Given the description of an element on the screen output the (x, y) to click on. 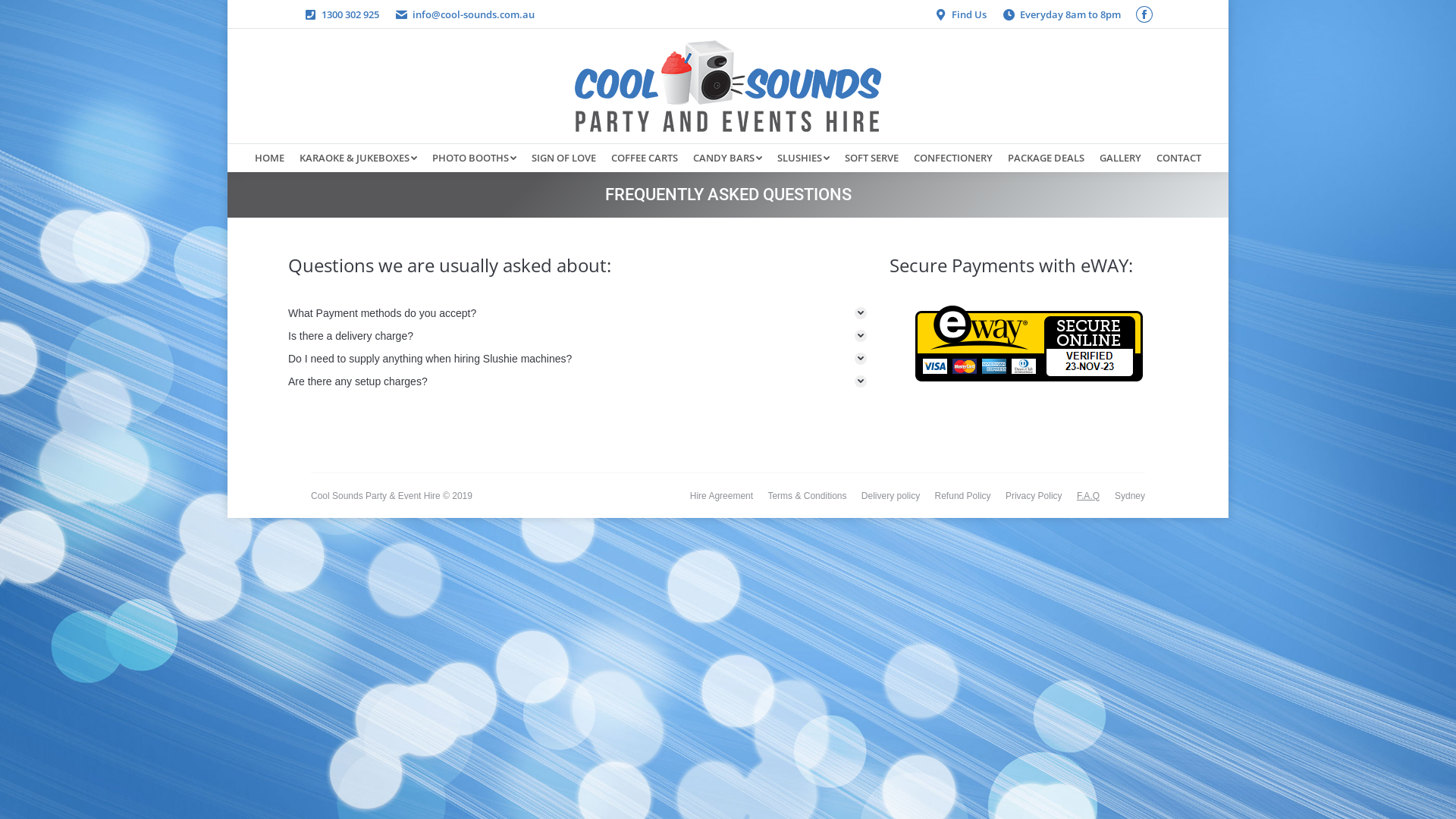
Delivery policy Element type: text (890, 495)
PHOTO BOOTHS Element type: text (474, 157)
Refund Policy Element type: text (963, 495)
COFFEE CARTS Element type: text (644, 157)
GALLERY Element type: text (1120, 157)
CONTACT Element type: text (1178, 157)
info@cool-sounds.com.au Element type: text (473, 14)
SIGN OF LOVE Element type: text (563, 157)
What Payment methods do you accept? Element type: text (577, 312)
Are there any setup charges? Element type: text (577, 381)
eWAY Payment Gateway Element type: hover (1028, 416)
PACKAGE DEALS Element type: text (1046, 157)
HOME Element type: text (269, 157)
Find Us Element type: text (968, 14)
F.A.Q Element type: text (1087, 495)
Is there a delivery charge? Element type: text (577, 335)
Terms & Conditions Element type: text (806, 495)
CONFECTIONERY Element type: text (953, 157)
Privacy Policy Element type: text (1033, 495)
Facebook page opens in new window Element type: text (1143, 14)
CANDY BARS Element type: text (727, 157)
Do I need to supply anything when hiring Slushie machines? Element type: text (577, 358)
KARAOKE & JUKEBOXES Element type: text (357, 157)
1300 302 925 Element type: text (350, 14)
SOFT SERVE Element type: text (871, 157)
SLUSHIES Element type: text (803, 157)
Hire Agreement Element type: text (721, 495)
